Given the description of an element on the screen output the (x, y) to click on. 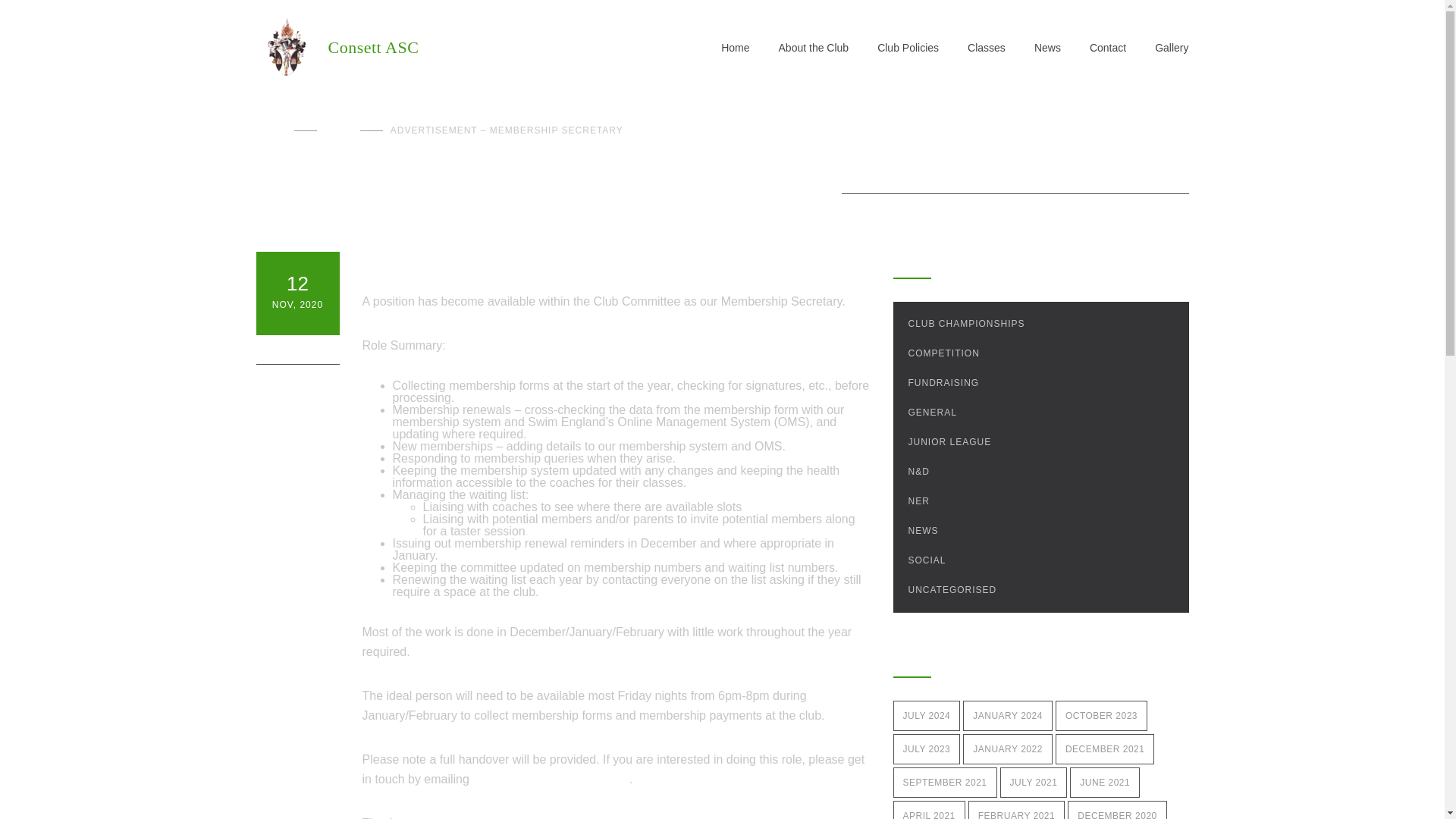
Blog (338, 130)
Consett ASC (489, 47)
About the Club (798, 47)
0 COMMENTS (297, 349)
Consett-ASC (489, 47)
0 comments (297, 349)
Club Policies (893, 47)
Home (271, 130)
